Given the description of an element on the screen output the (x, y) to click on. 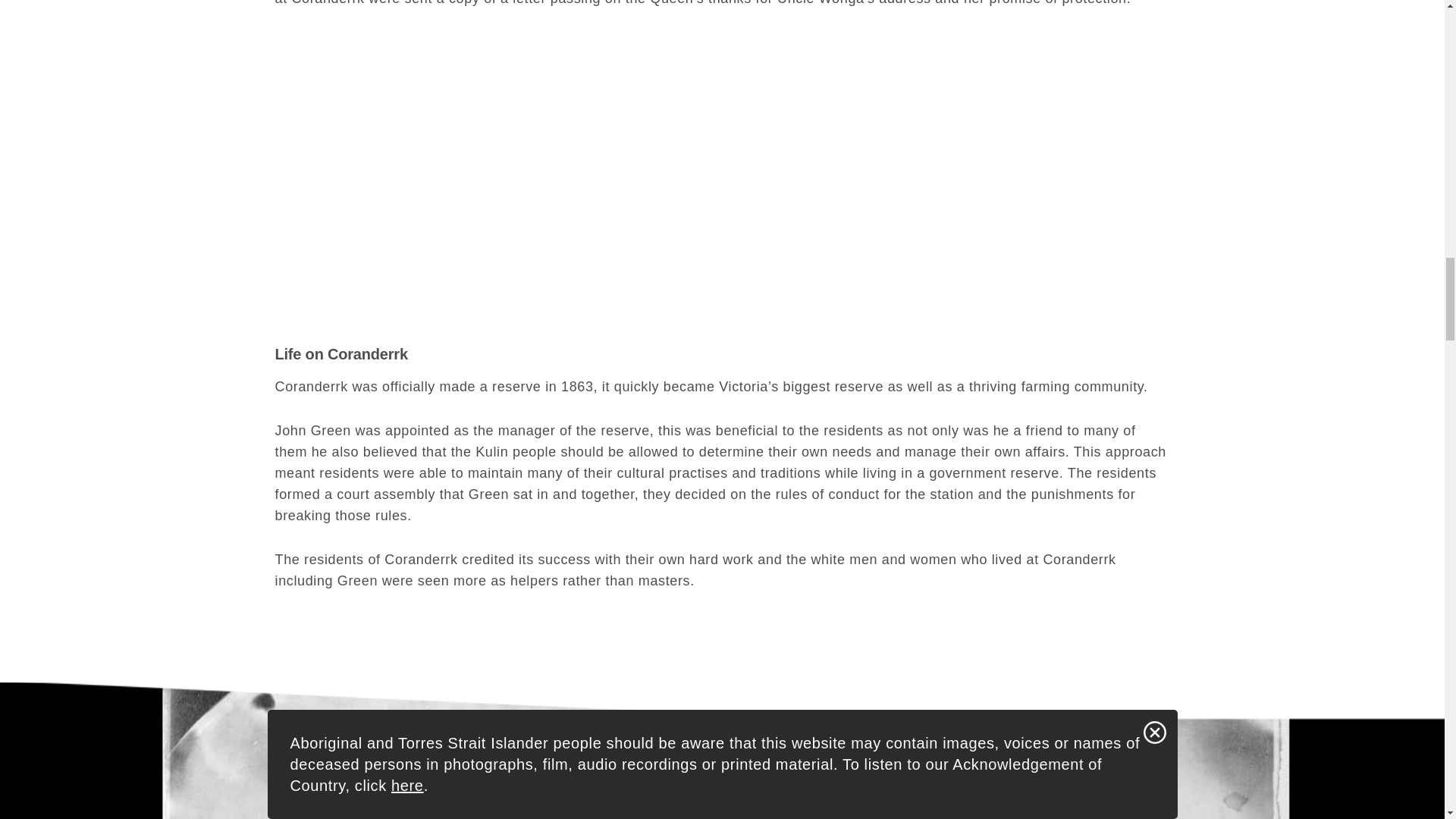
YouTube video player (486, 151)
